Given the description of an element on the screen output the (x, y) to click on. 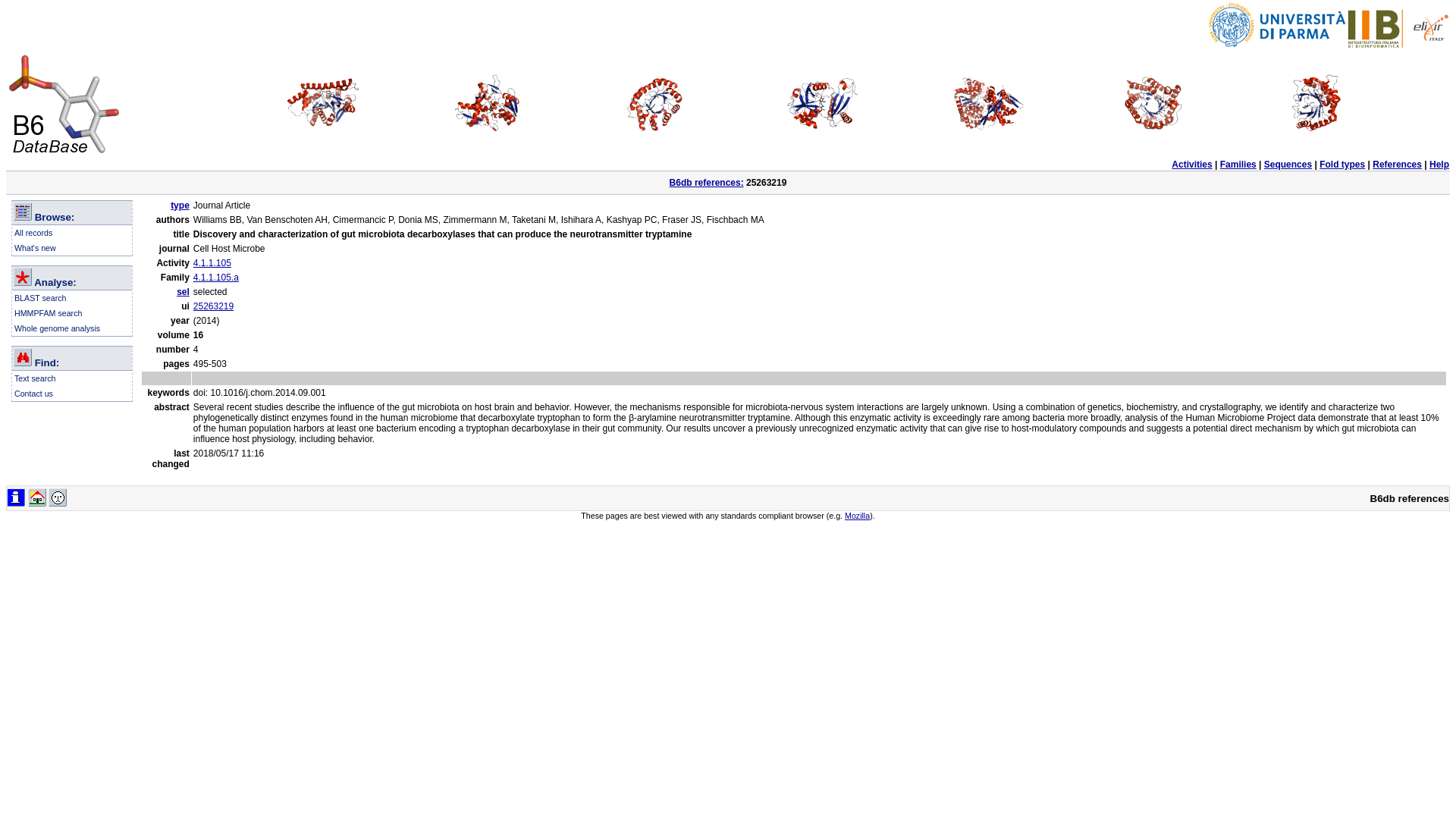
Contact us (33, 393)
FOLD TYPE II (488, 102)
search (22, 357)
What's new (35, 247)
Activities (1191, 163)
Whole genome analysis (57, 327)
Text search (35, 378)
view how record was changing over time (15, 497)
Sequences (1287, 163)
FOLD TYPE III (656, 102)
FOLD TYPE VI (1154, 102)
browse (22, 211)
4.1.1.105 (212, 262)
HMMPFAM search (47, 312)
type (179, 204)
